Given the description of an element on the screen output the (x, y) to click on. 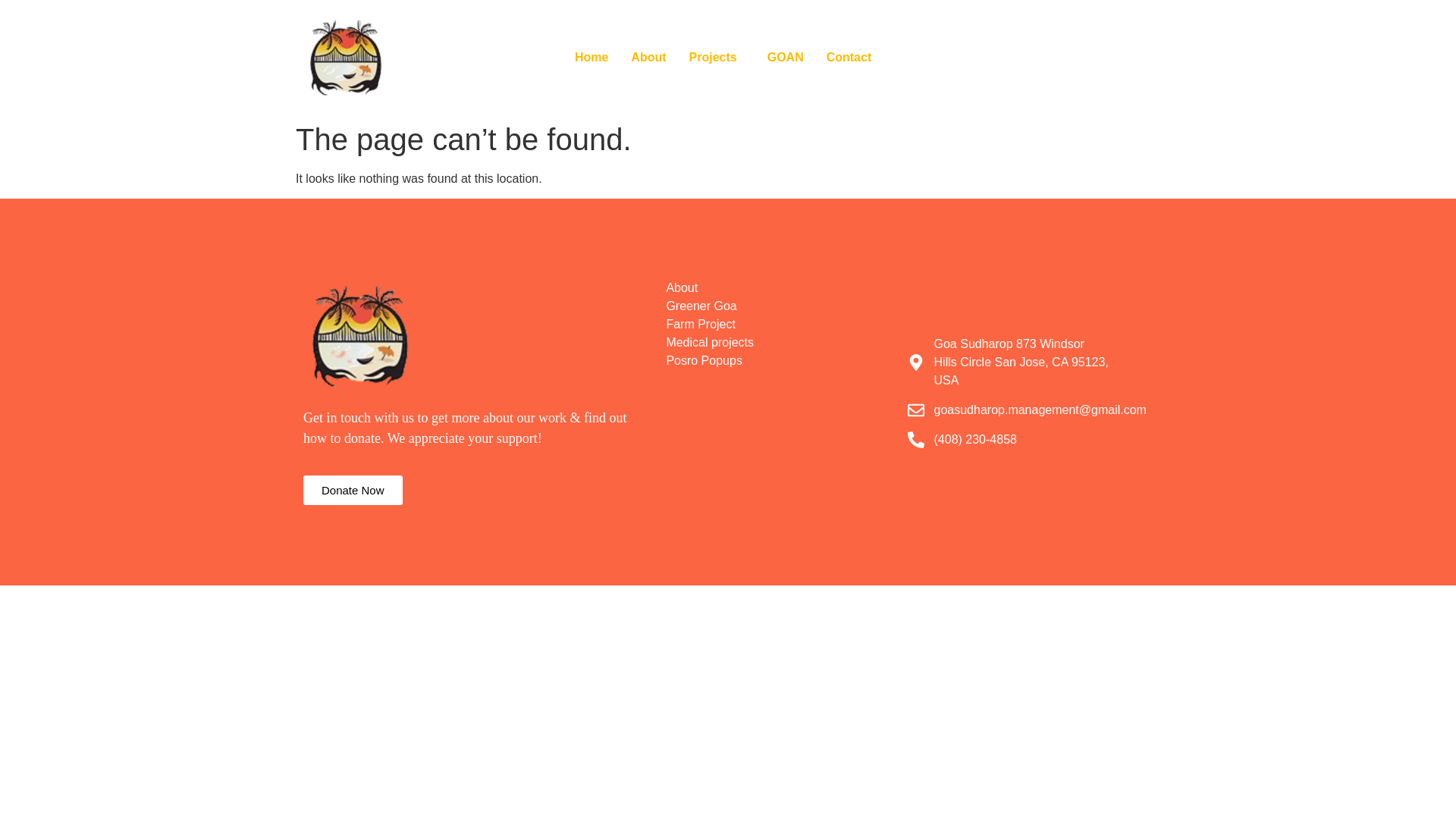
GOAN (785, 57)
About (778, 288)
Projects (716, 57)
Home (591, 57)
About (648, 57)
Greener Goa (778, 306)
Farm Project (778, 324)
Posro Popups (778, 361)
Donate Now (352, 490)
Medical projects (778, 342)
Contact (849, 57)
